Given the description of an element on the screen output the (x, y) to click on. 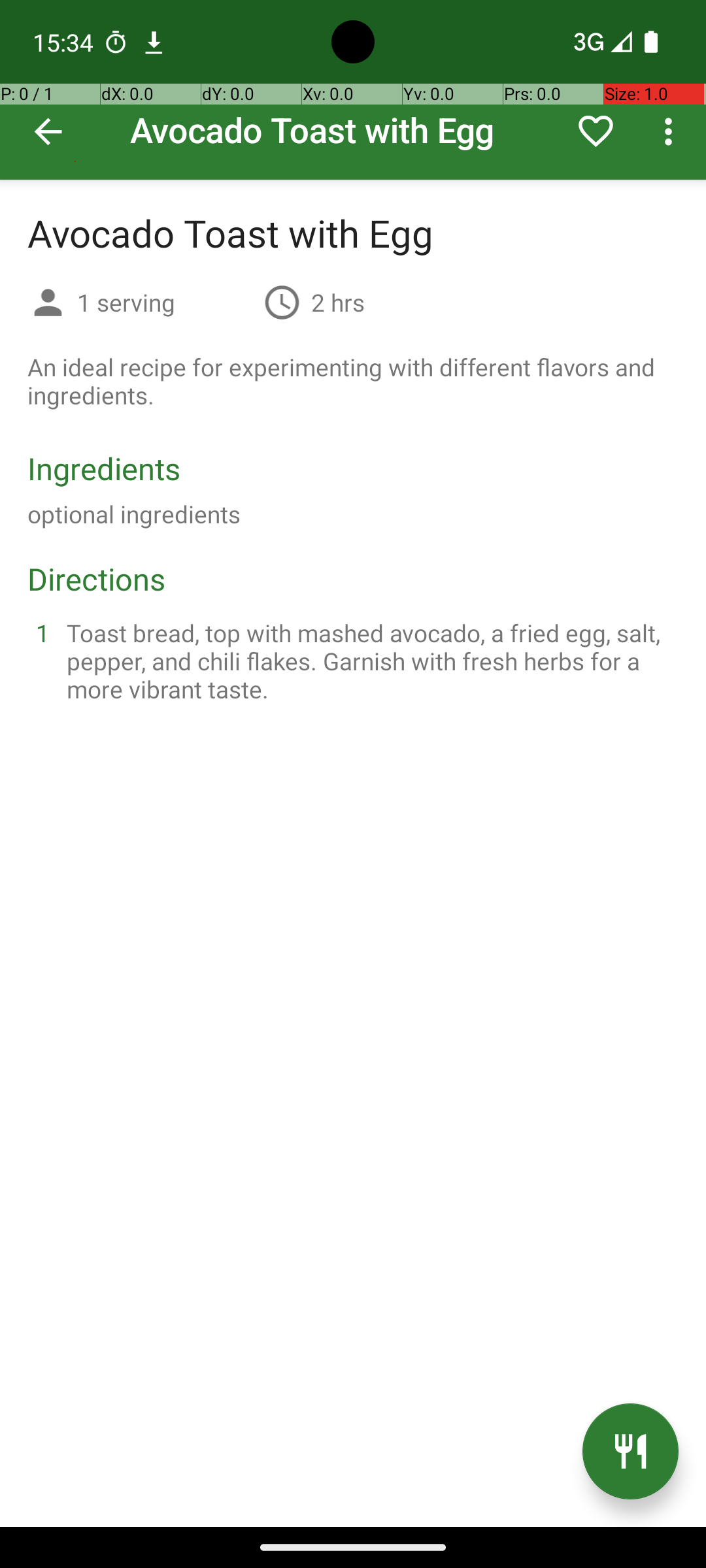
Toast bread, top with mashed avocado, a fried egg, salt, pepper, and chili flakes. Garnish with fresh herbs for a more vibrant taste. Element type: android.widget.TextView (368, 660)
